Given the description of an element on the screen output the (x, y) to click on. 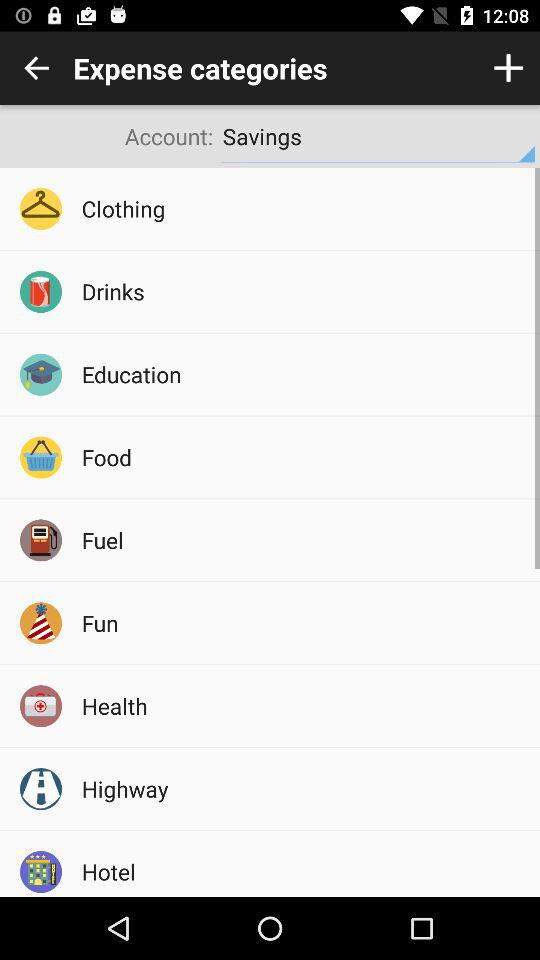
turn off the item above highway item (303, 705)
